Given the description of an element on the screen output the (x, y) to click on. 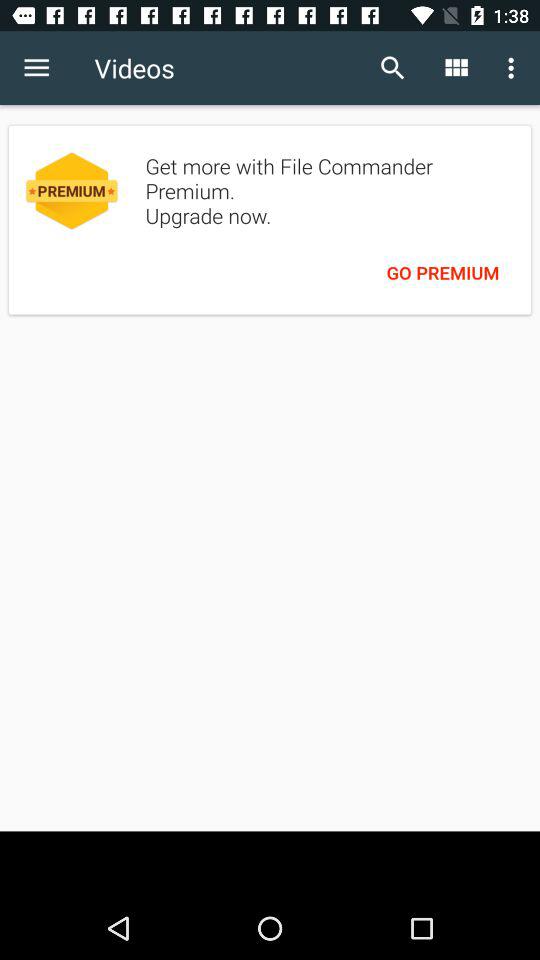
select the item to the left of the videos item (36, 68)
